Given the description of an element on the screen output the (x, y) to click on. 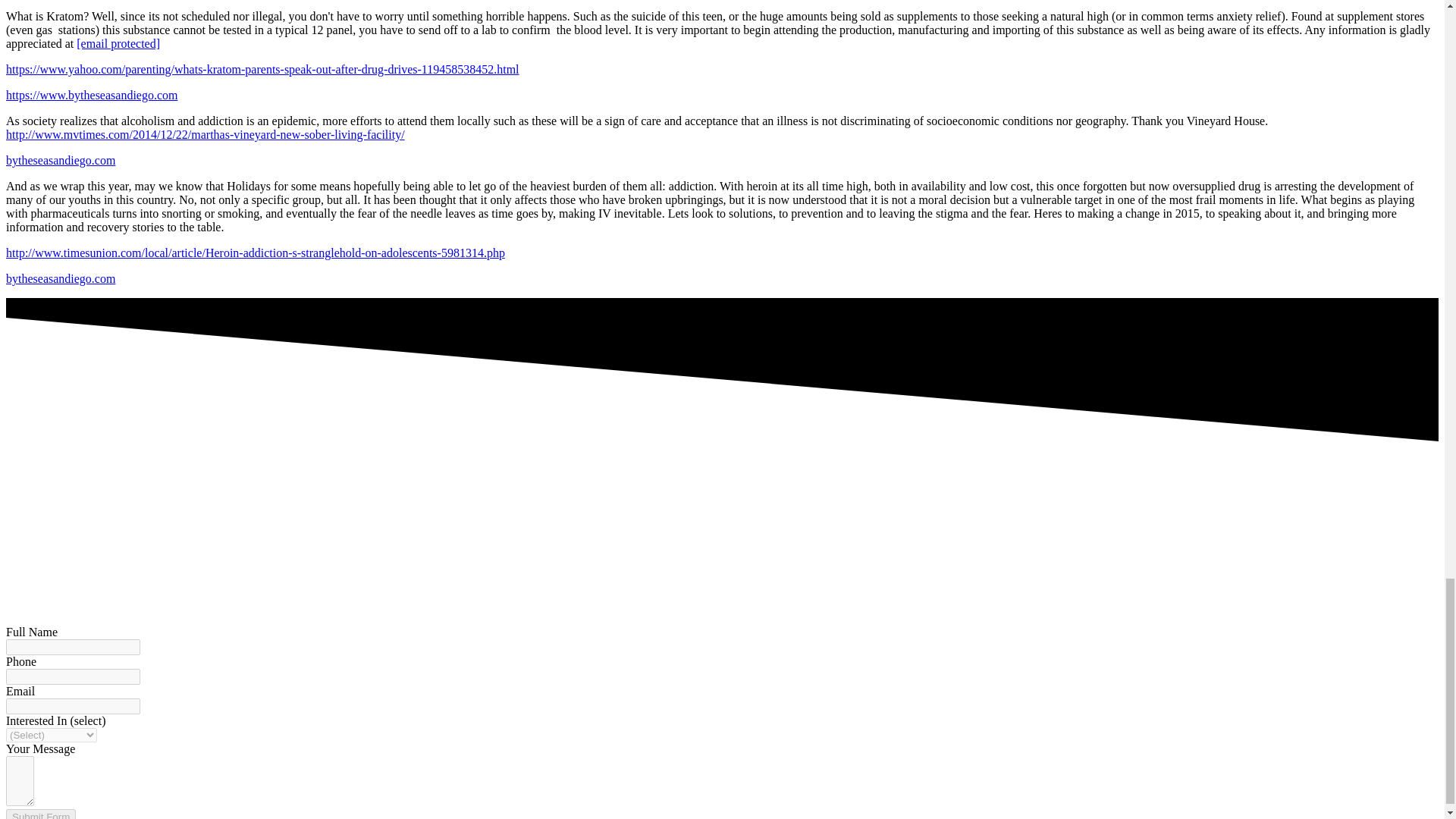
bytheseasandiego.com (60, 278)
bytheseasandiego.com (60, 160)
